Given the description of an element on the screen output the (x, y) to click on. 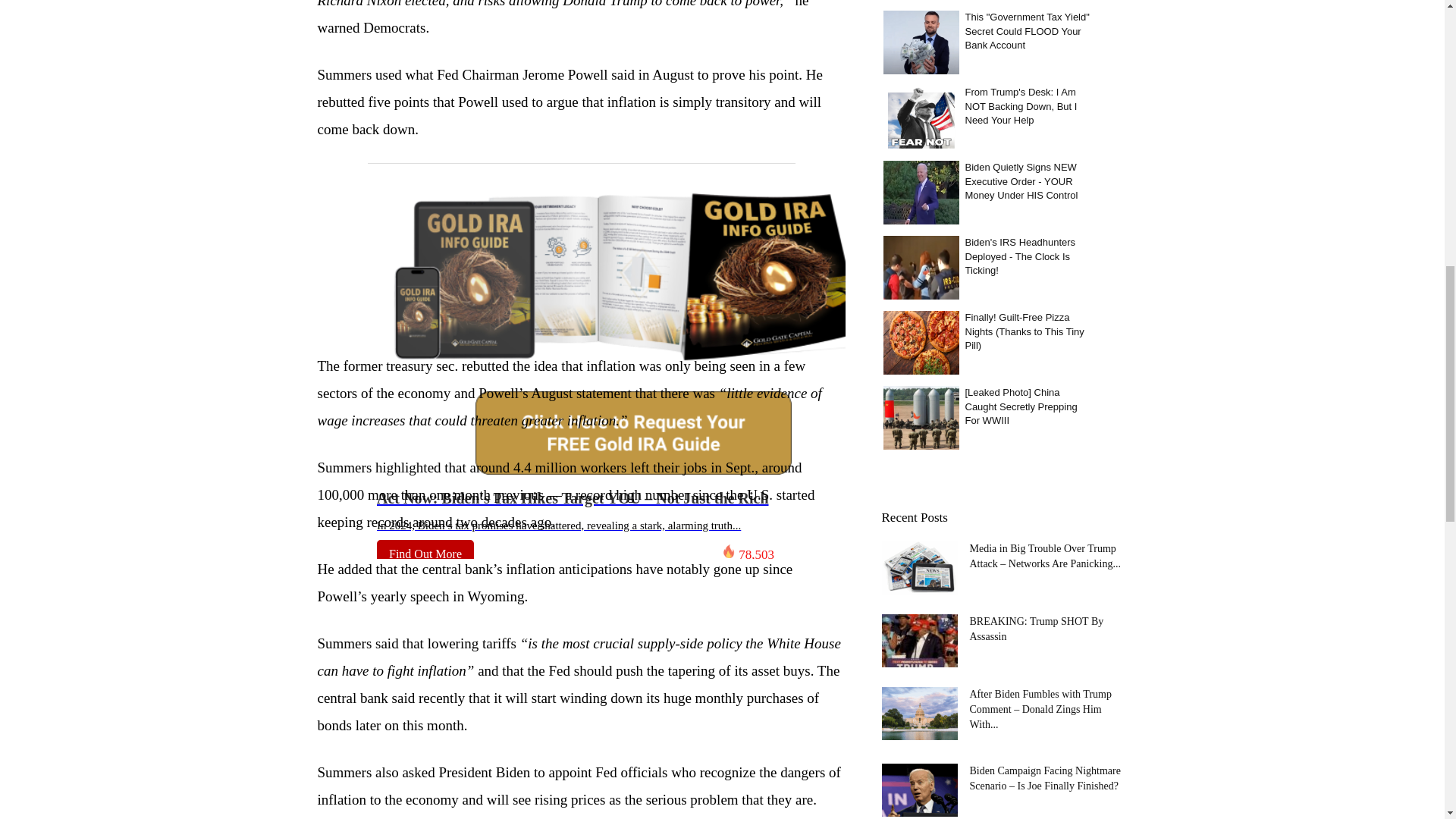
This  (920, 41)
Biden's IRS Headhunters Deployed - The Clock Is Ticking! (920, 266)
